Given the description of an element on the screen output the (x, y) to click on. 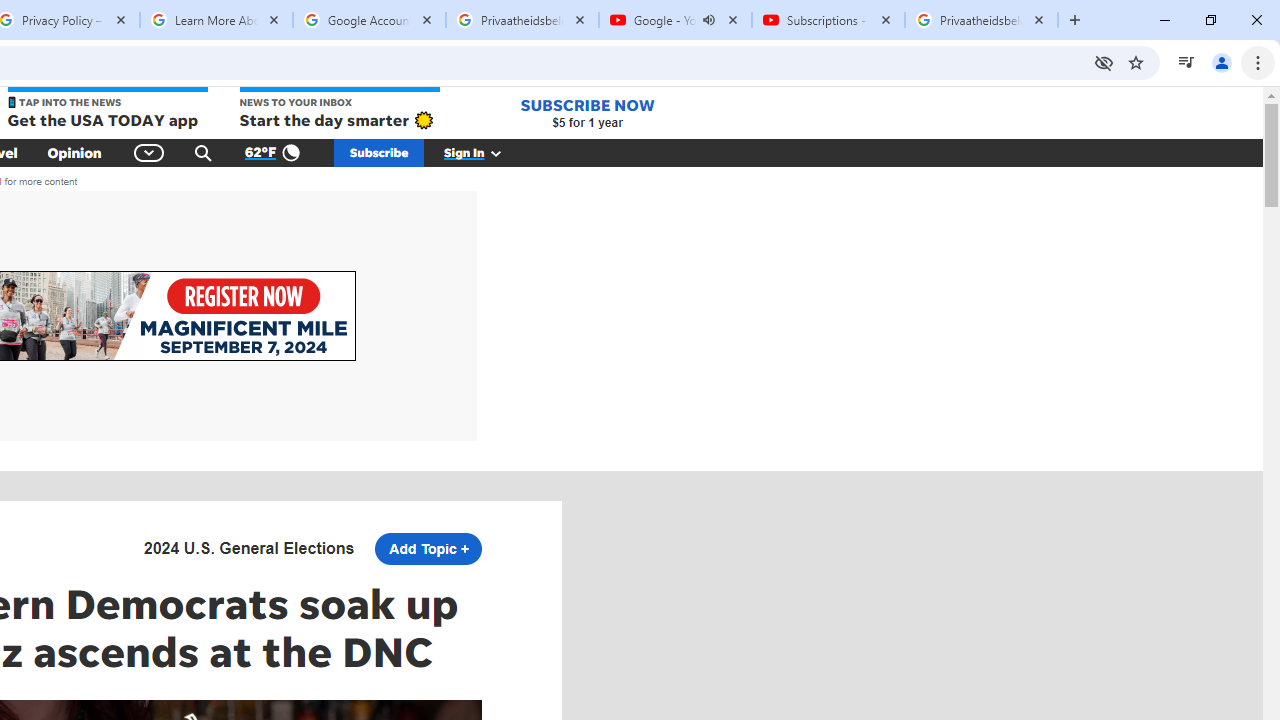
SUBSCRIBE NOW $5 for 1 year (587, 112)
Opinion (74, 152)
Add Topic (427, 548)
Google Account (369, 20)
Control your music, videos, and more (1185, 62)
Search (203, 152)
Global Navigation (149, 152)
Subscriptions - YouTube (827, 20)
